Given the description of an element on the screen output the (x, y) to click on. 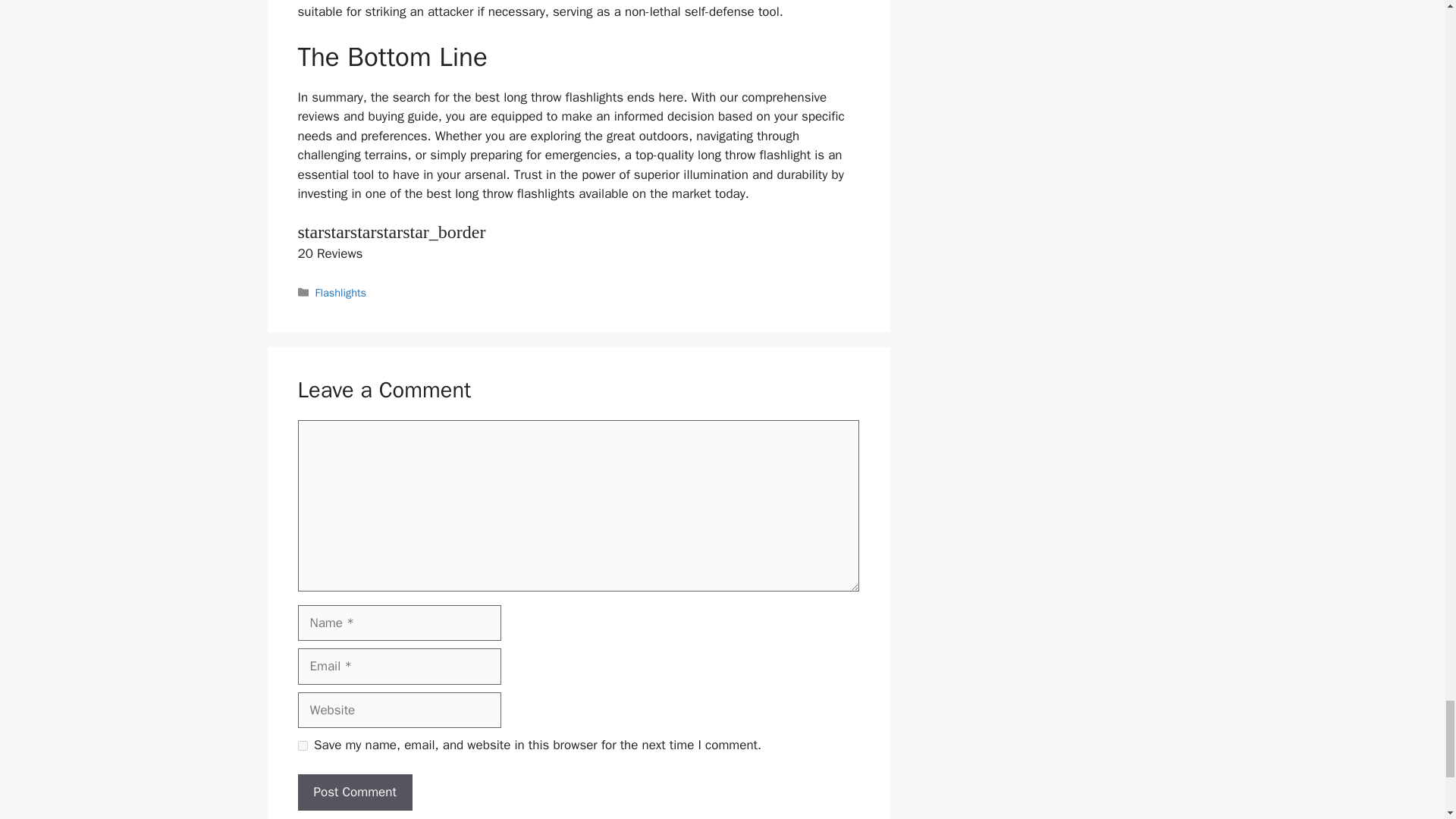
yes (302, 746)
Post Comment (354, 791)
Post Comment (354, 791)
Flashlights (340, 292)
